Given the description of an element on the screen output the (x, y) to click on. 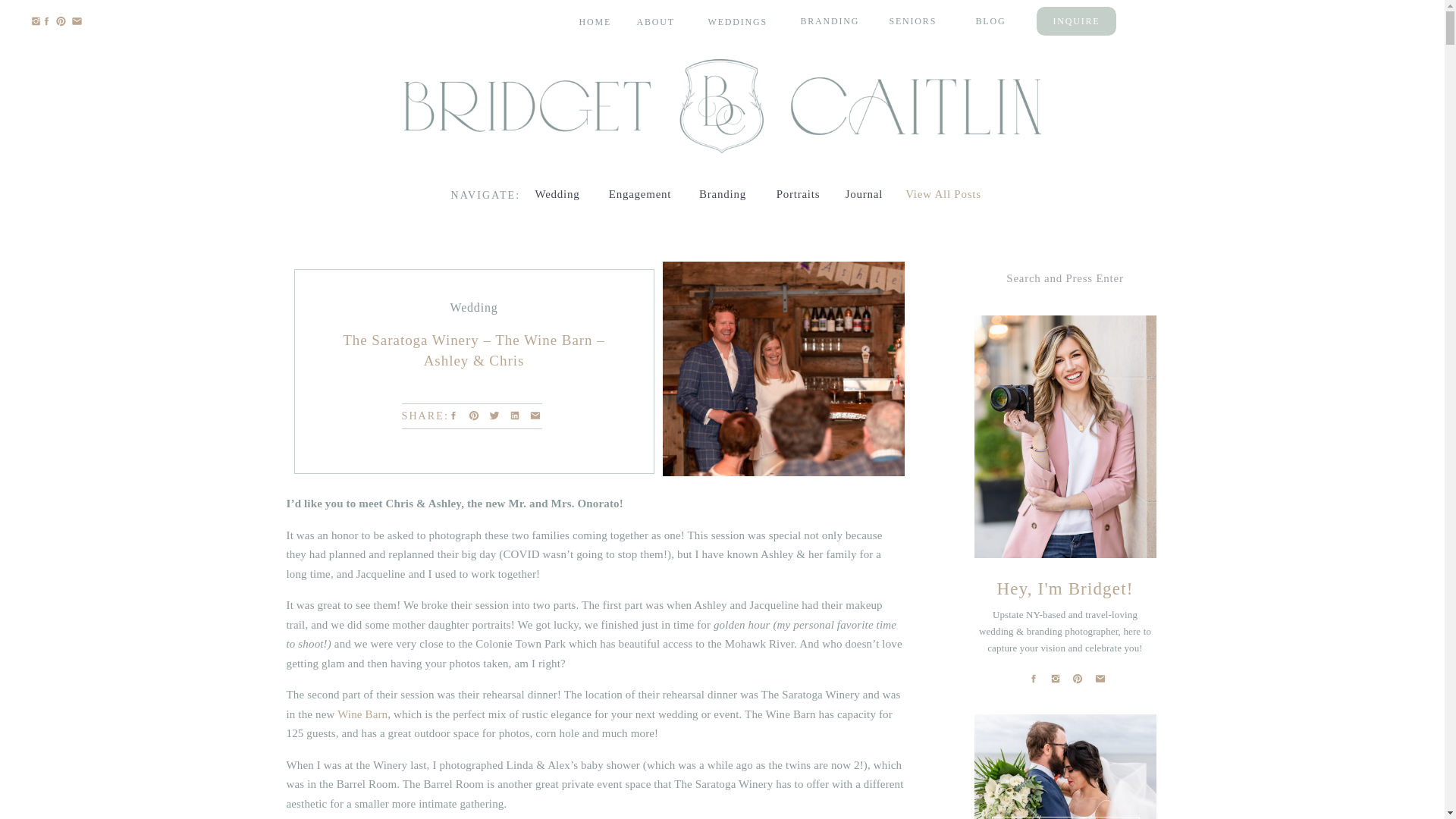
Wine Barn (362, 714)
SENIORS (918, 20)
ABOUT (659, 21)
Journal (863, 192)
BLOG (1005, 20)
Engagement (639, 192)
HOME (600, 21)
BRANDING (830, 20)
View All Posts (944, 192)
Portraits (797, 192)
Branding (722, 192)
WEDDINGS (737, 21)
Wedding (556, 192)
Wedding (473, 307)
INQUIRE (1076, 20)
